Given the description of an element on the screen output the (x, y) to click on. 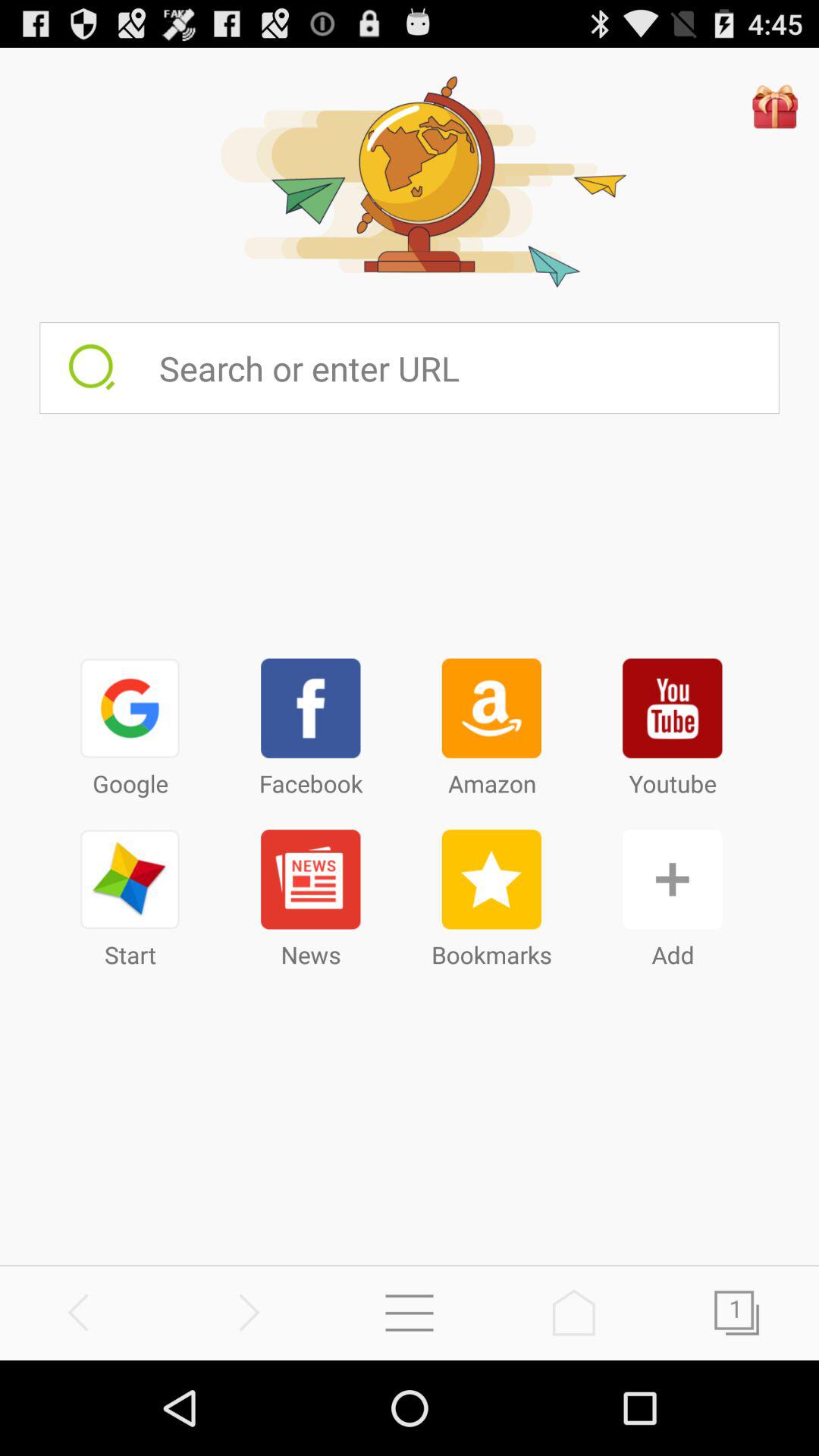
go forward (245, 1312)
